Given the description of an element on the screen output the (x, y) to click on. 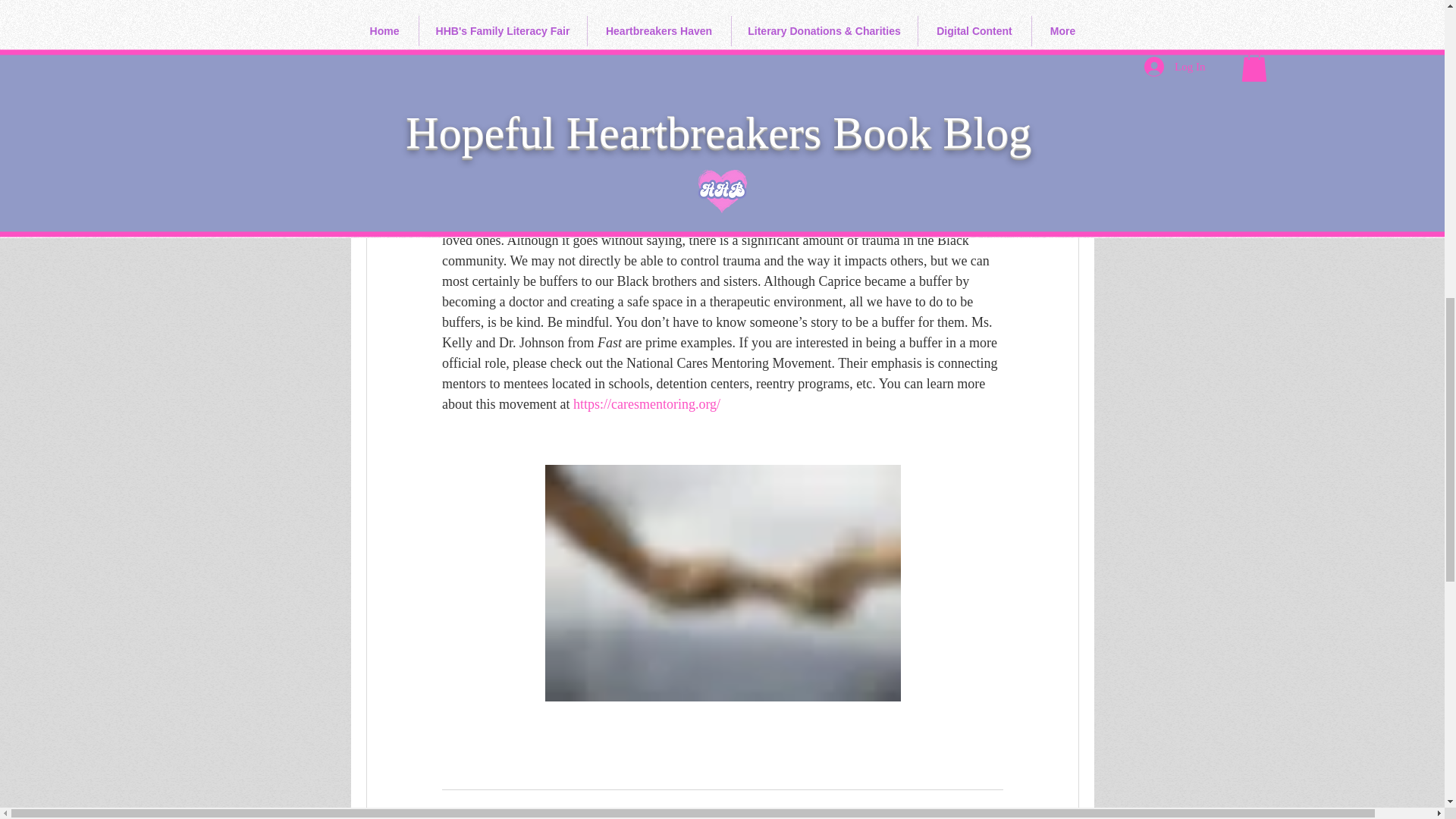
Character Therapy (958, 812)
